Given the description of an element on the screen output the (x, y) to click on. 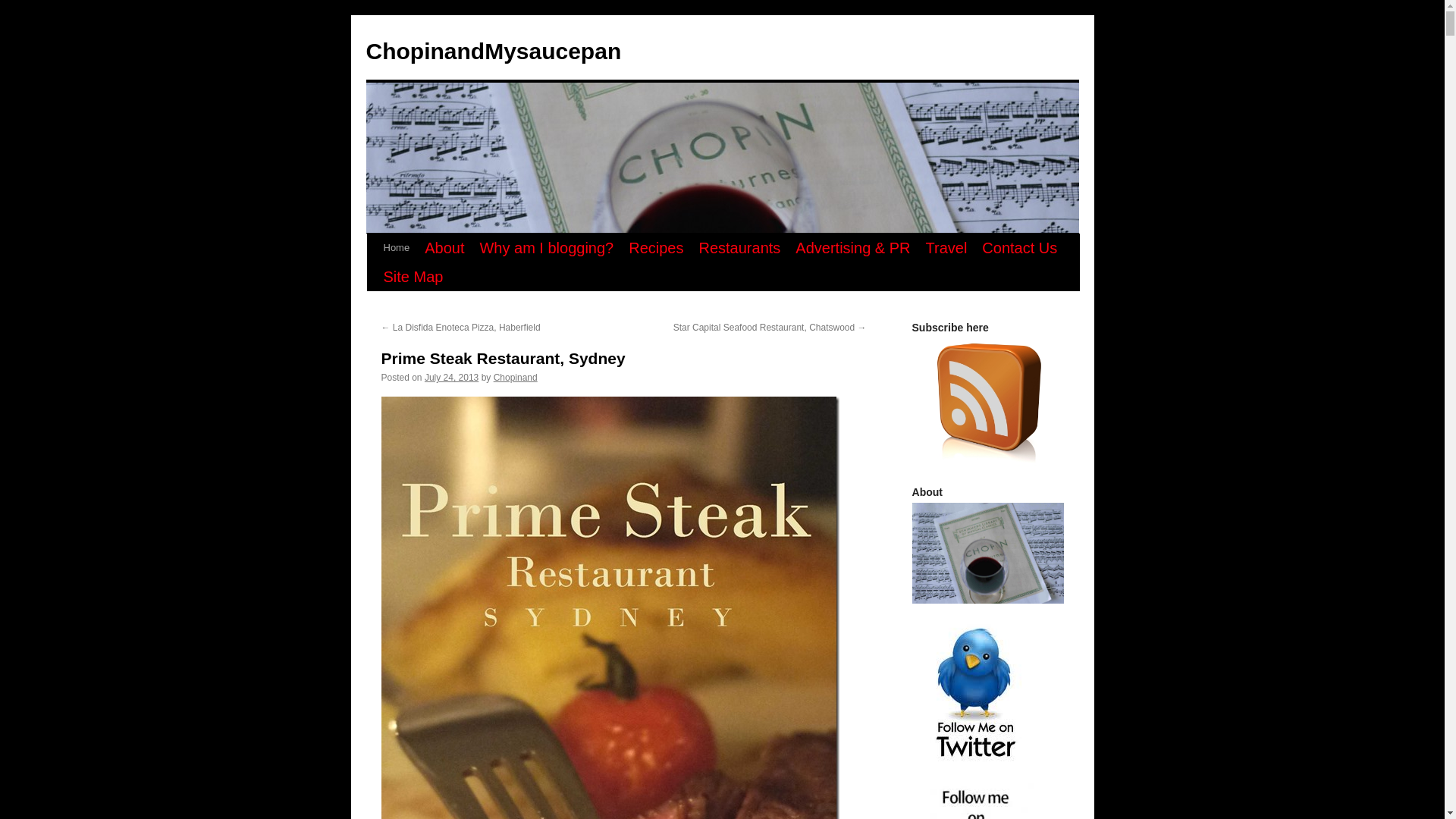
Home (396, 247)
Site Map (413, 276)
Why am I blogging? (546, 247)
Restaurants (738, 247)
Recipes (655, 247)
ChopinandMysaucepan (493, 50)
July 24, 2013 (452, 377)
Travel (945, 247)
ChopinandMysaucepan (493, 50)
